Given the description of an element on the screen output the (x, y) to click on. 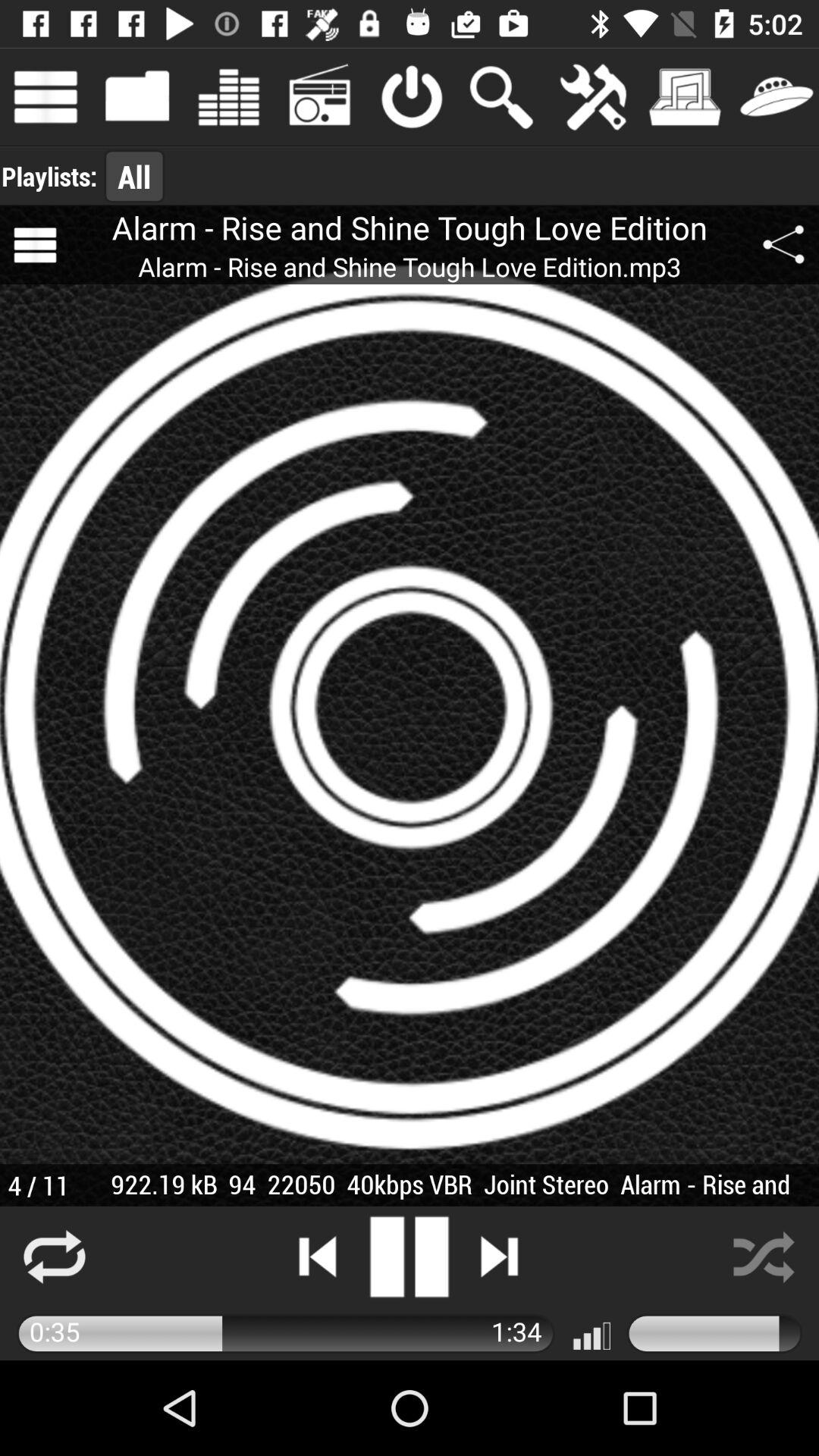
press the item next to   all   item (49, 175)
